Given the description of an element on the screen output the (x, y) to click on. 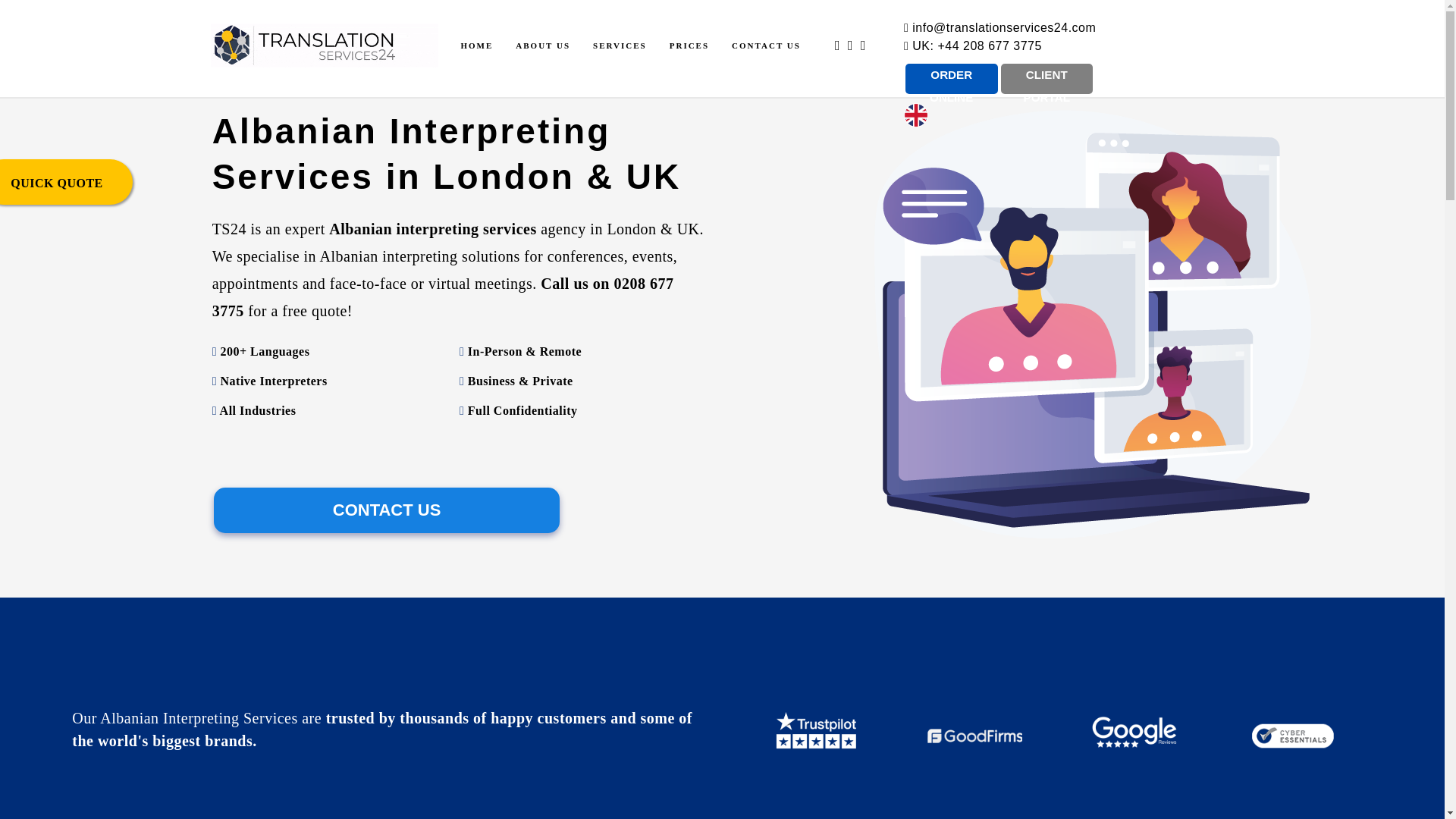
ABOUT US (542, 45)
